Given the description of an element on the screen output the (x, y) to click on. 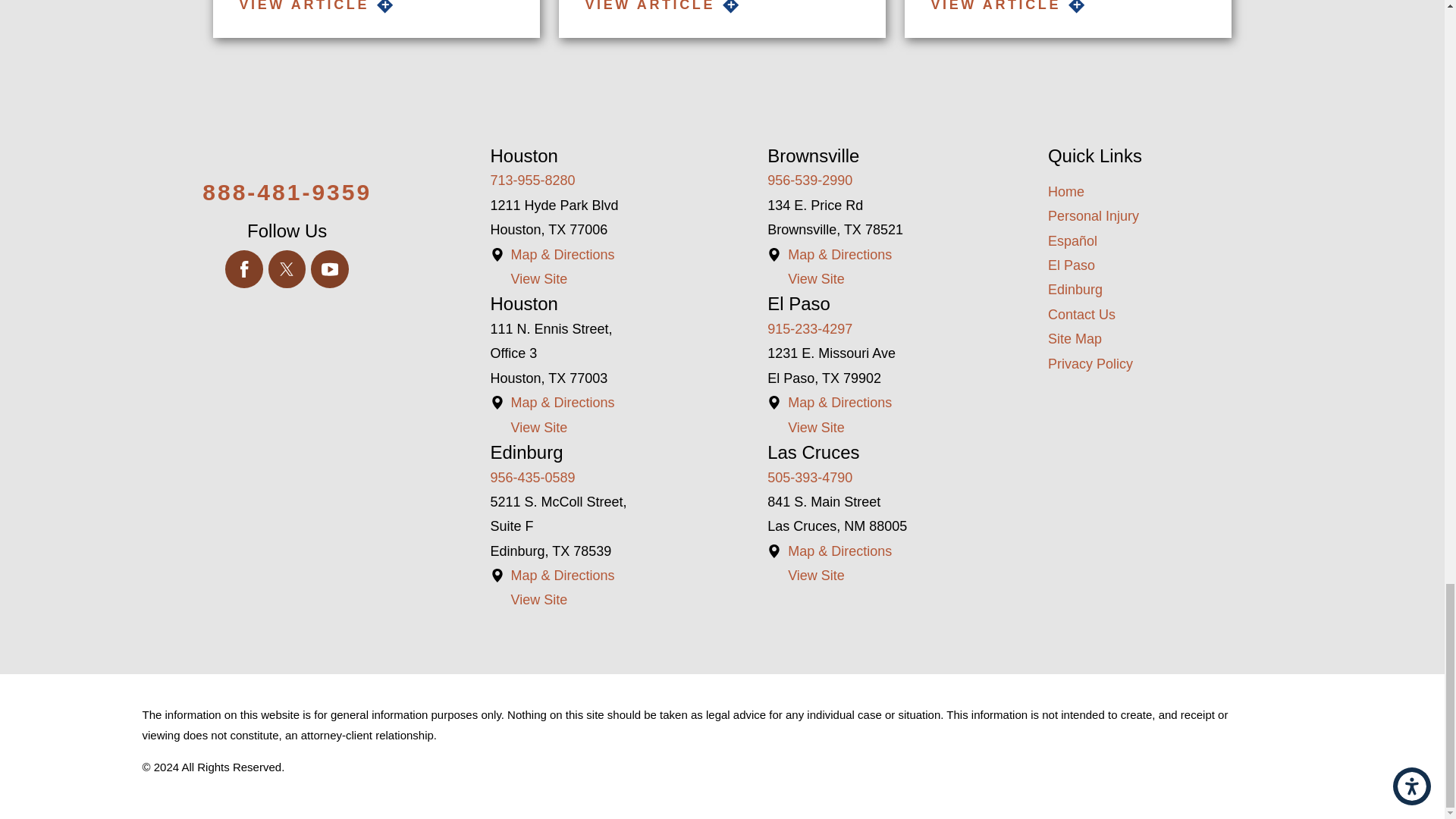
Facebook (244, 269)
